Given the description of an element on the screen output the (x, y) to click on. 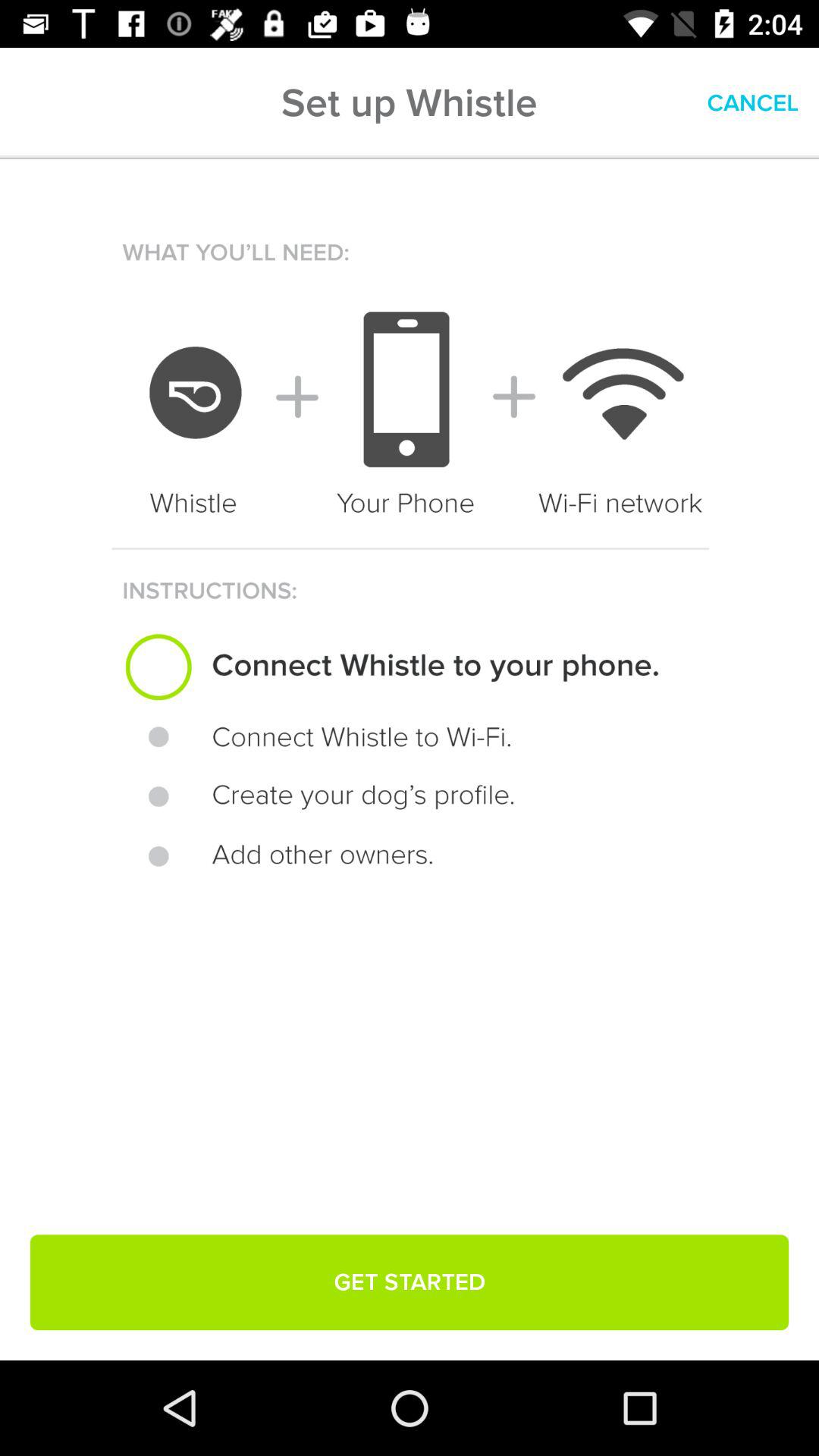
swipe to get started item (409, 1282)
